Given the description of an element on the screen output the (x, y) to click on. 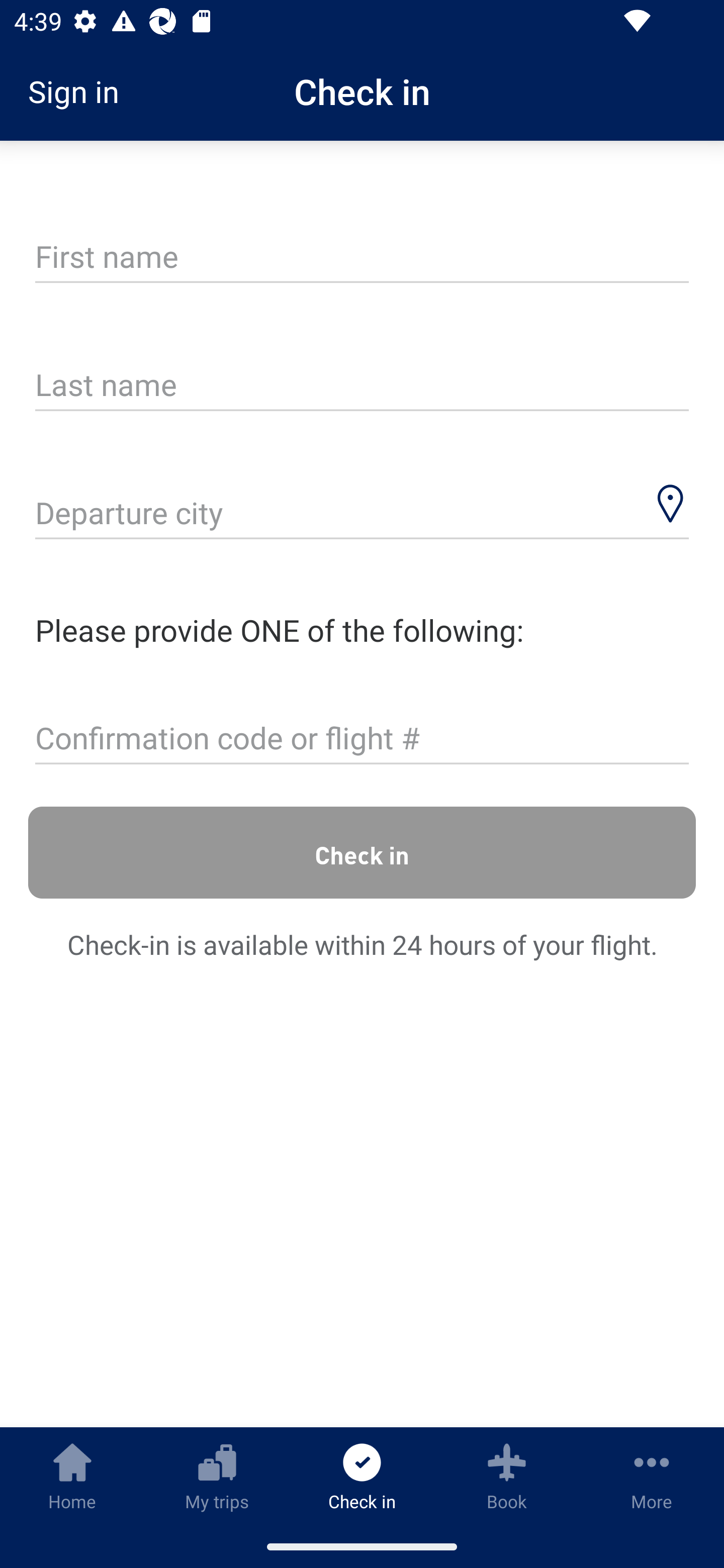
Sign in (80, 91)
First name (361, 257)
Last name (361, 386)
Departure city (361, 514)
Check in (361, 851)
Home (72, 1475)
My trips (216, 1475)
Book (506, 1475)
More (651, 1475)
